Given the description of an element on the screen output the (x, y) to click on. 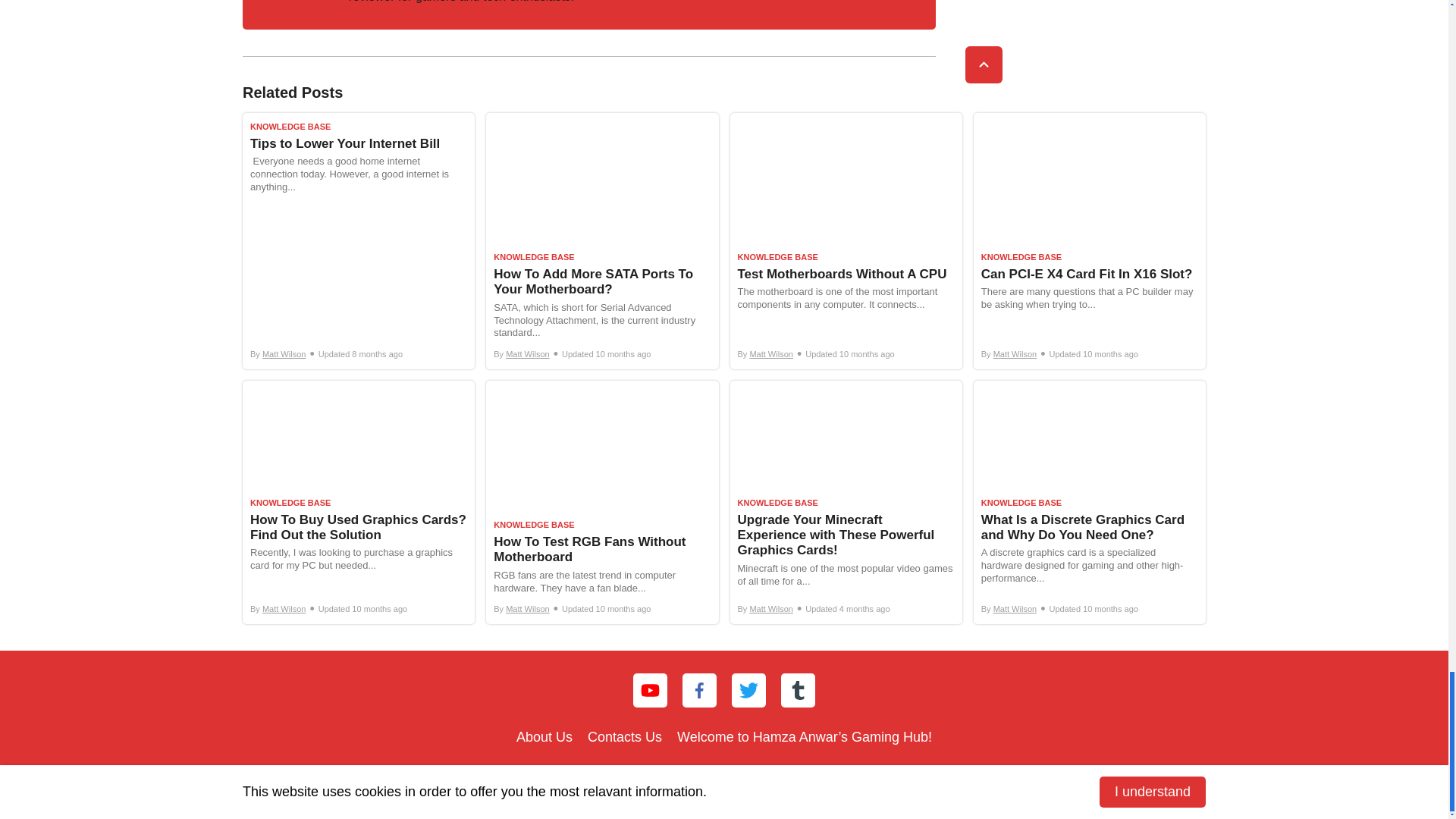
Permanent Link to Tips to Lower Your Internet Bill (358, 241)
Permanent Link to Can PCI-E X4 Card Fit In X16 Slot? (1089, 241)
Permanent Link to How To Test RGB Fans Without Motherboard (601, 502)
Permanent Link to Test Motherboards Without A CPU (844, 241)
